Given the description of an element on the screen output the (x, y) to click on. 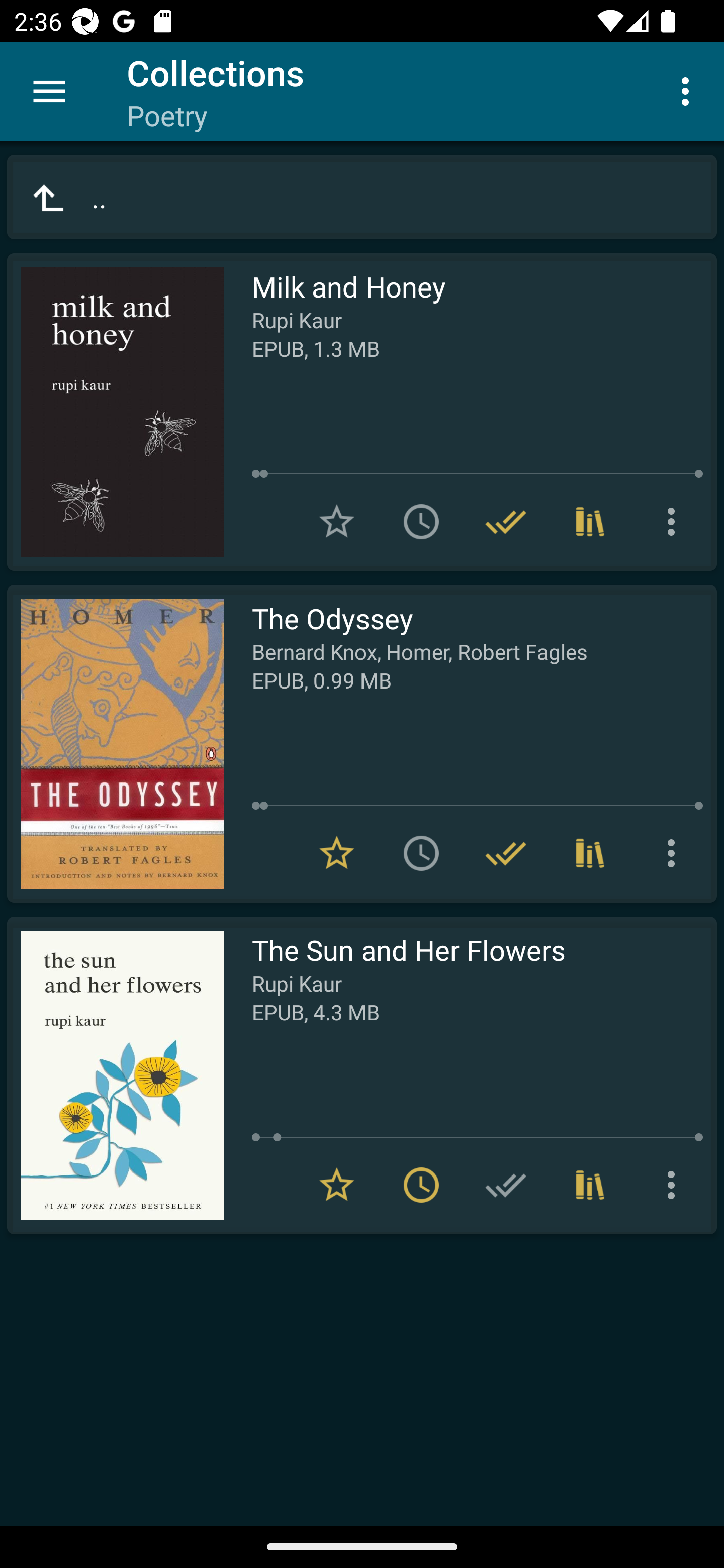
Menu (49, 91)
More options (688, 90)
.. (361, 197)
Read Milk and Honey (115, 412)
Add to Favorites (336, 521)
Add to To read (421, 521)
Remove from Have read (505, 521)
Collections (4) (590, 521)
More options (674, 521)
Read The Odyssey (115, 743)
Remove from Favorites (336, 852)
Add to To read (421, 852)
Remove from Have read (505, 852)
Collections (3) (590, 852)
More options (674, 852)
Read The Sun and Her Flowers (115, 1075)
Remove from Favorites (336, 1185)
Remove from To read (421, 1185)
Add to Have read (505, 1185)
Collections (1) (590, 1185)
More options (674, 1185)
